Given the description of an element on the screen output the (x, y) to click on. 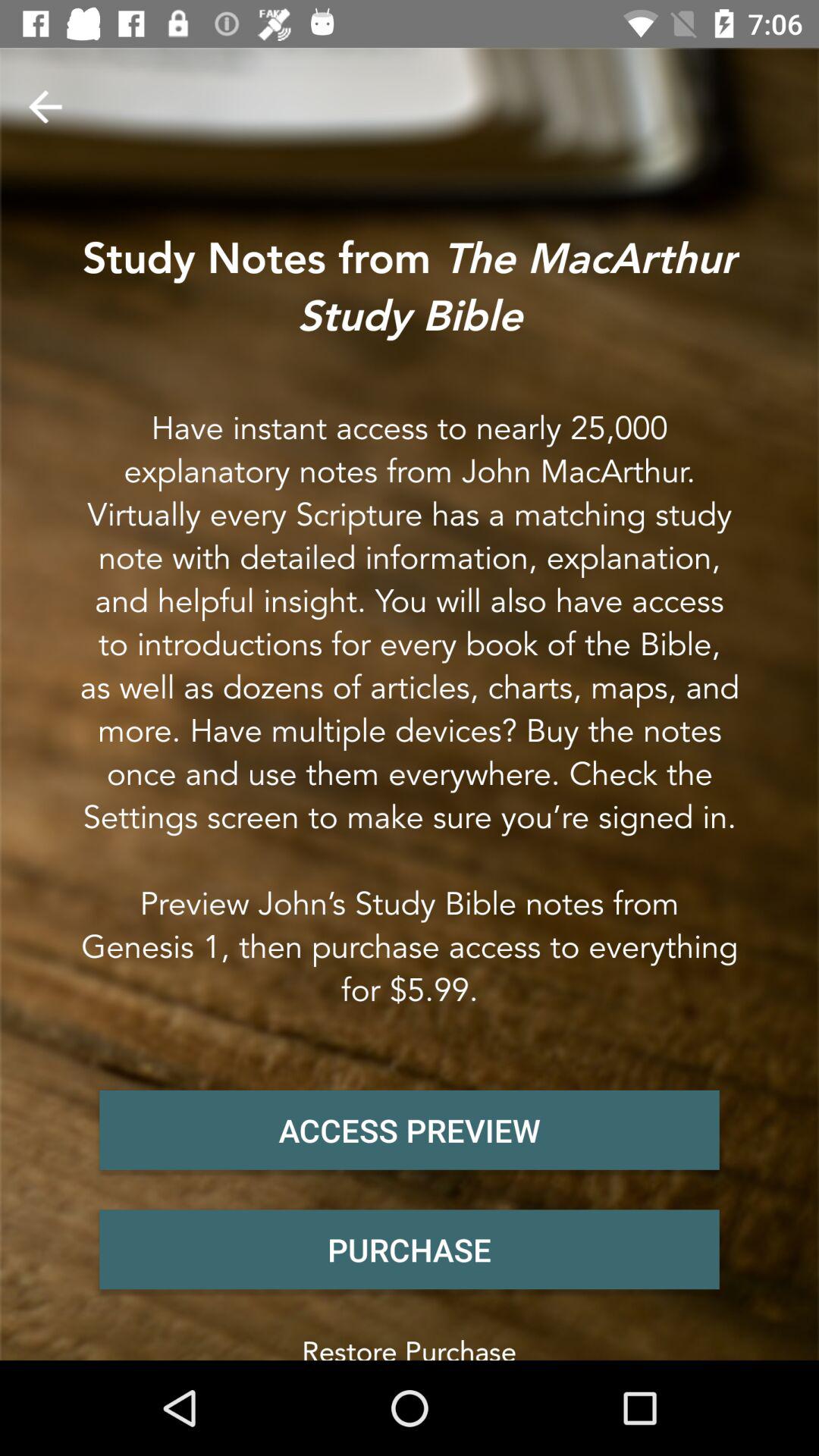
launch access preview icon (409, 1129)
